Given the description of an element on the screen output the (x, y) to click on. 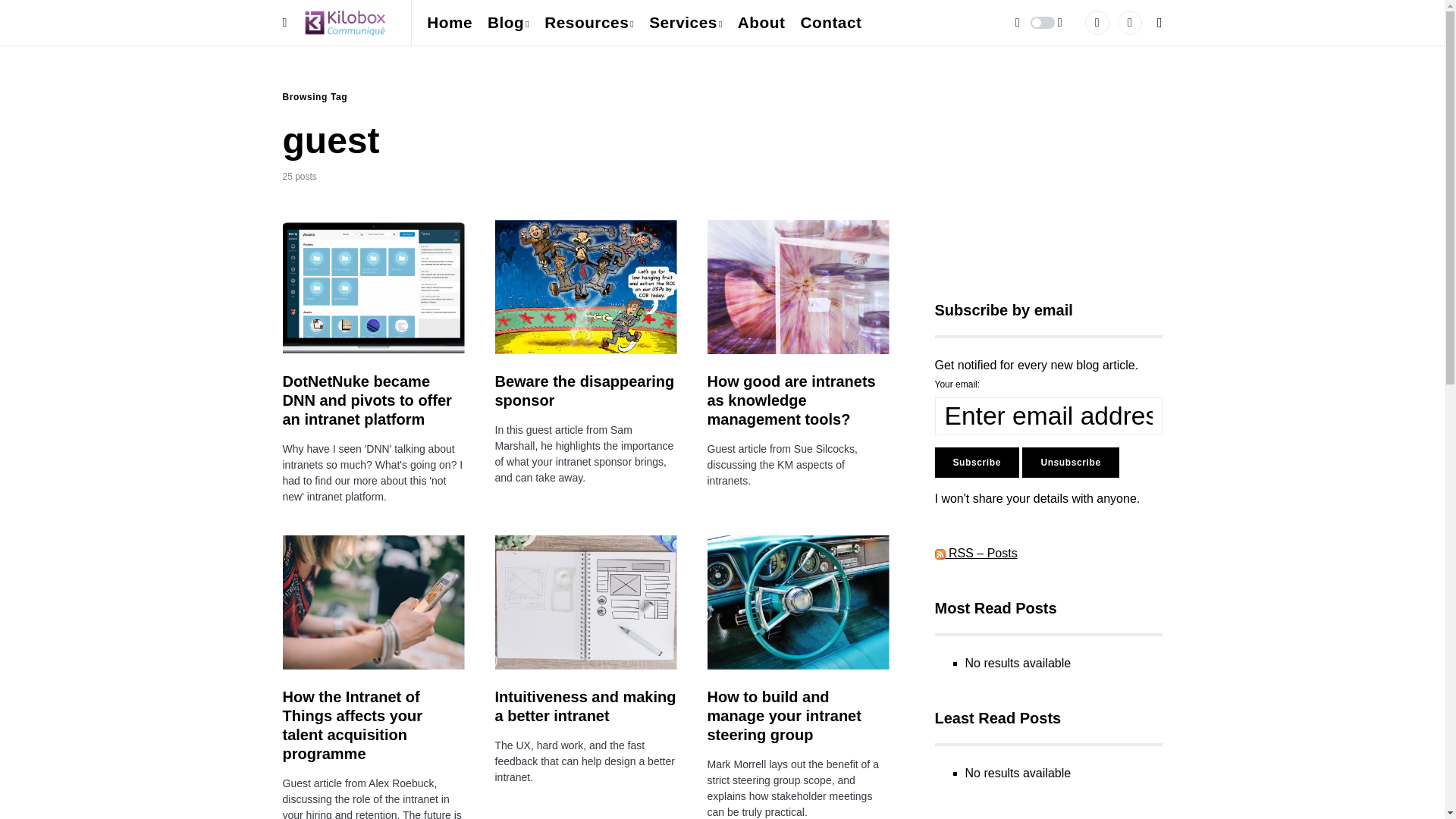
Unsubscribe (1070, 462)
Subscribe (975, 462)
Enter email address... (1047, 415)
